Given the description of an element on the screen output the (x, y) to click on. 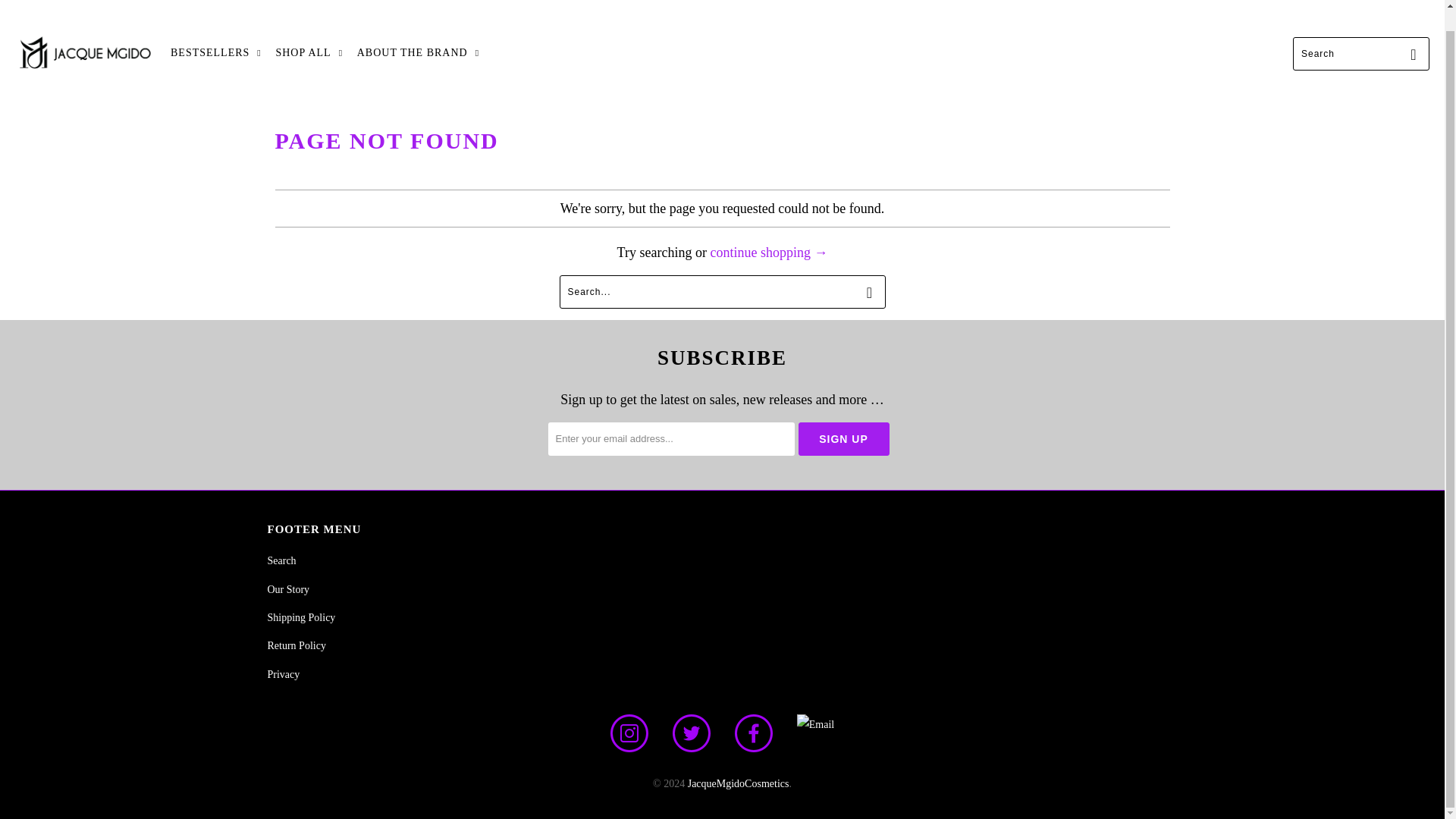
My Account  (1355, 2)
Sign Up (842, 438)
JacqueMgidoCosmetics (84, 53)
